Given the description of an element on the screen output the (x, y) to click on. 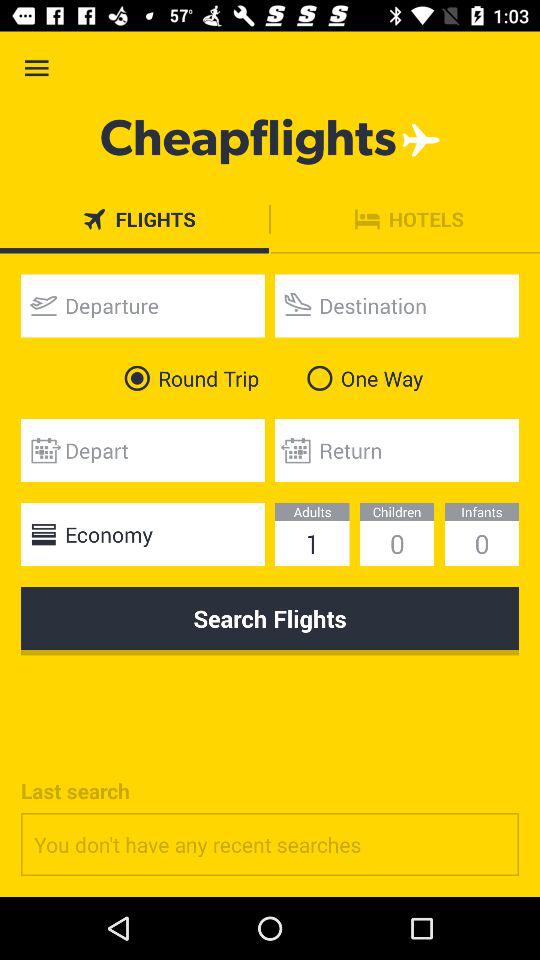
jump until economy (142, 534)
